Given the description of an element on the screen output the (x, y) to click on. 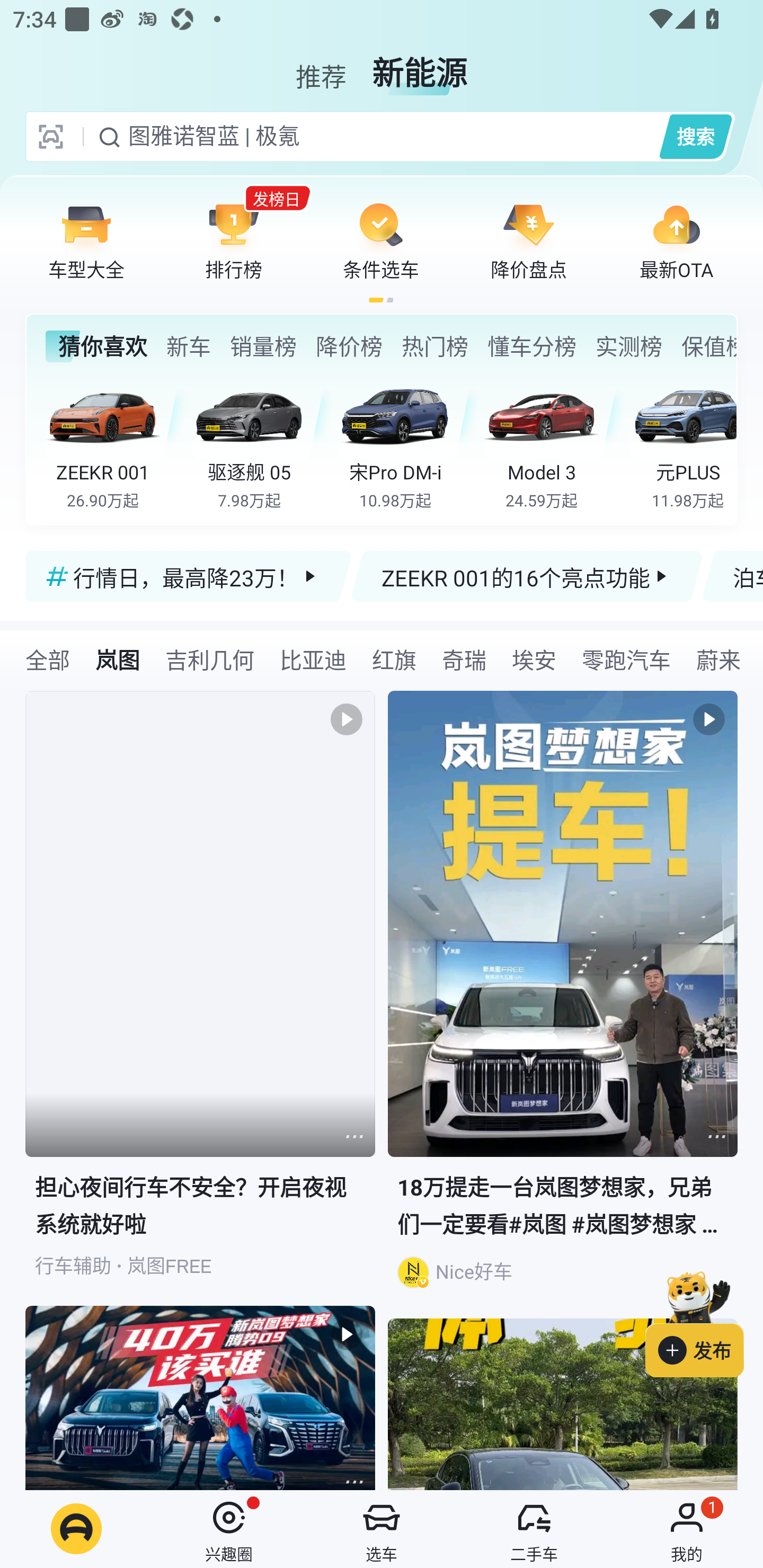
推荐 (321, 65)
新能源 (419, 65)
搜索 (695, 136)
车型大全 (86, 240)
发榜日 排行榜 (233, 240)
条件选车 (380, 240)
降价盘点 (528, 240)
最新OTA (676, 240)
猜你喜欢 (96, 346)
新车 (188, 346)
销量榜 (262, 346)
降价榜 (348, 346)
热门榜 (434, 346)
懂车分榜 (531, 346)
实测榜 (628, 346)
保值榜 (708, 346)
ZEEKR 001 26.90万起 (115, 442)
驱逐舰 05 7.98万起 (261, 442)
宋Pro DM-i 10.98万起 (407, 442)
Model 3 24.59万起 (554, 442)
元PLUS 11.98万起 (683, 442)
行情日，最高降23万！ (188, 576)
ZEEKR 001的16个亮点功能 (526, 576)
全部 (47, 659)
岚图 (117, 659)
吉利几何 (209, 659)
比亚迪 (313, 659)
红旗 (393, 659)
奇瑞 (463, 659)
埃安 (534, 659)
零跑汽车 (626, 659)
蔚来 (718, 659)
  担心夜间行车不安全？开启夜视系统就好啦 行车辅助 岚图FREE (200, 998)
 (354, 1136)
 (716, 1136)
岚图FREE (169, 1266)
发布 (704, 1320)
  (200, 1397)
 兴趣圈 (228, 1528)
 选车 (381, 1528)
 二手车 (533, 1528)
 我的 (686, 1528)
